Given the description of an element on the screen output the (x, y) to click on. 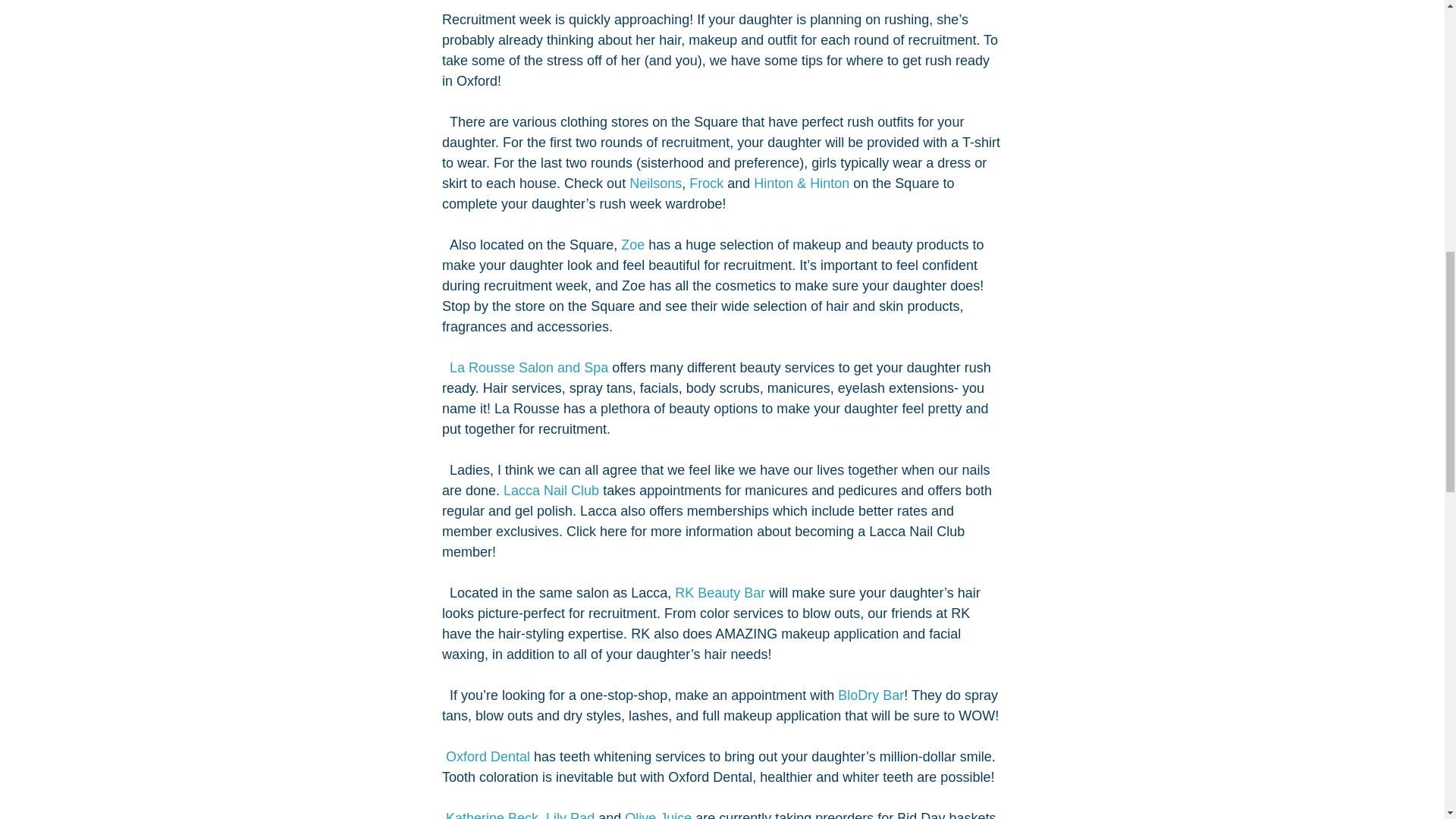
Zoe  (634, 244)
Frock (705, 183)
  La Rousse Salon and Spa (524, 367)
Lacca Nail Club (550, 490)
Neilsons (654, 183)
